Given the description of an element on the screen output the (x, y) to click on. 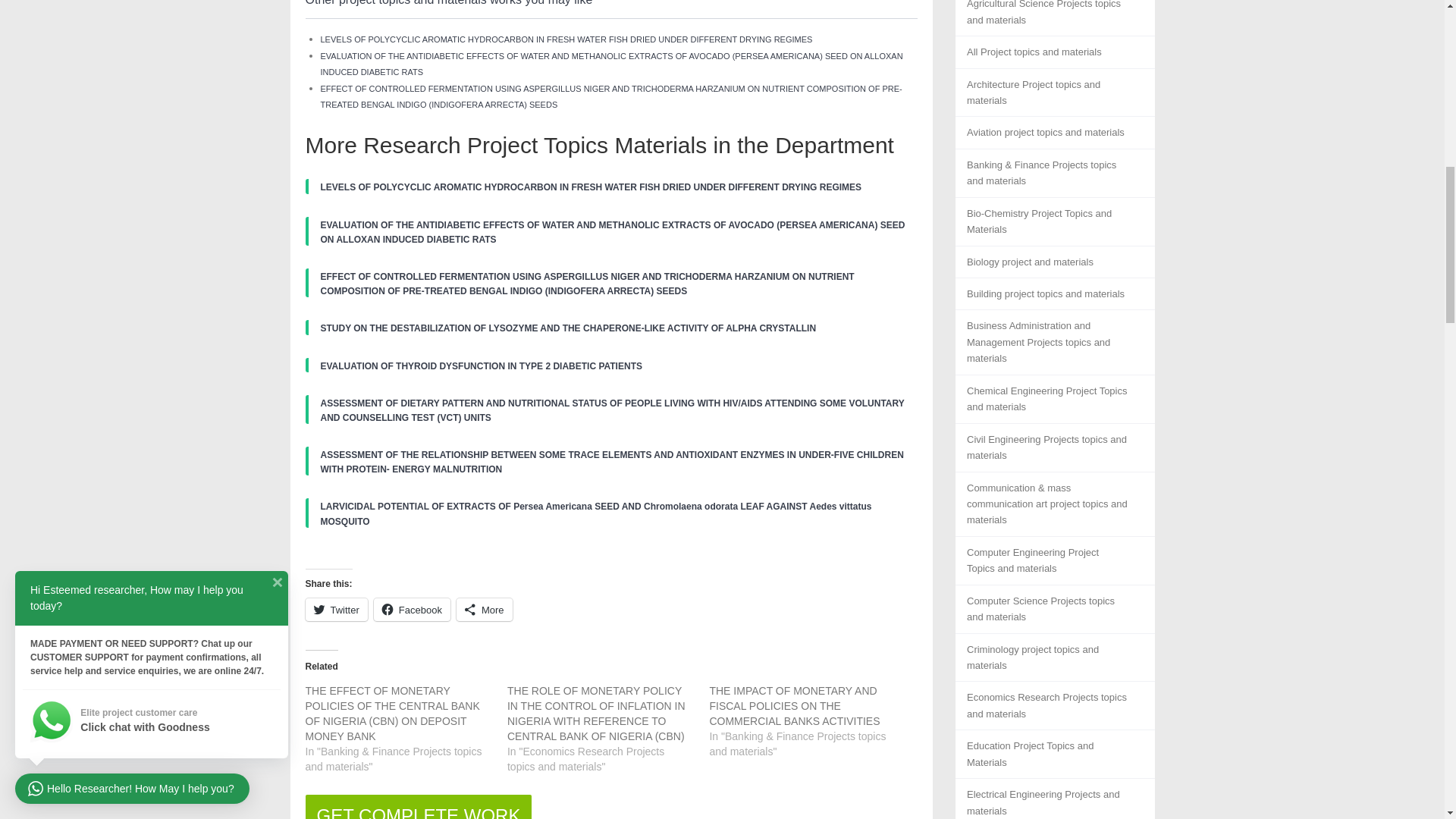
Click to share on Facebook (411, 609)
Facebook (411, 609)
Click to share on Twitter (335, 609)
Twitter (335, 609)
